Given the description of an element on the screen output the (x, y) to click on. 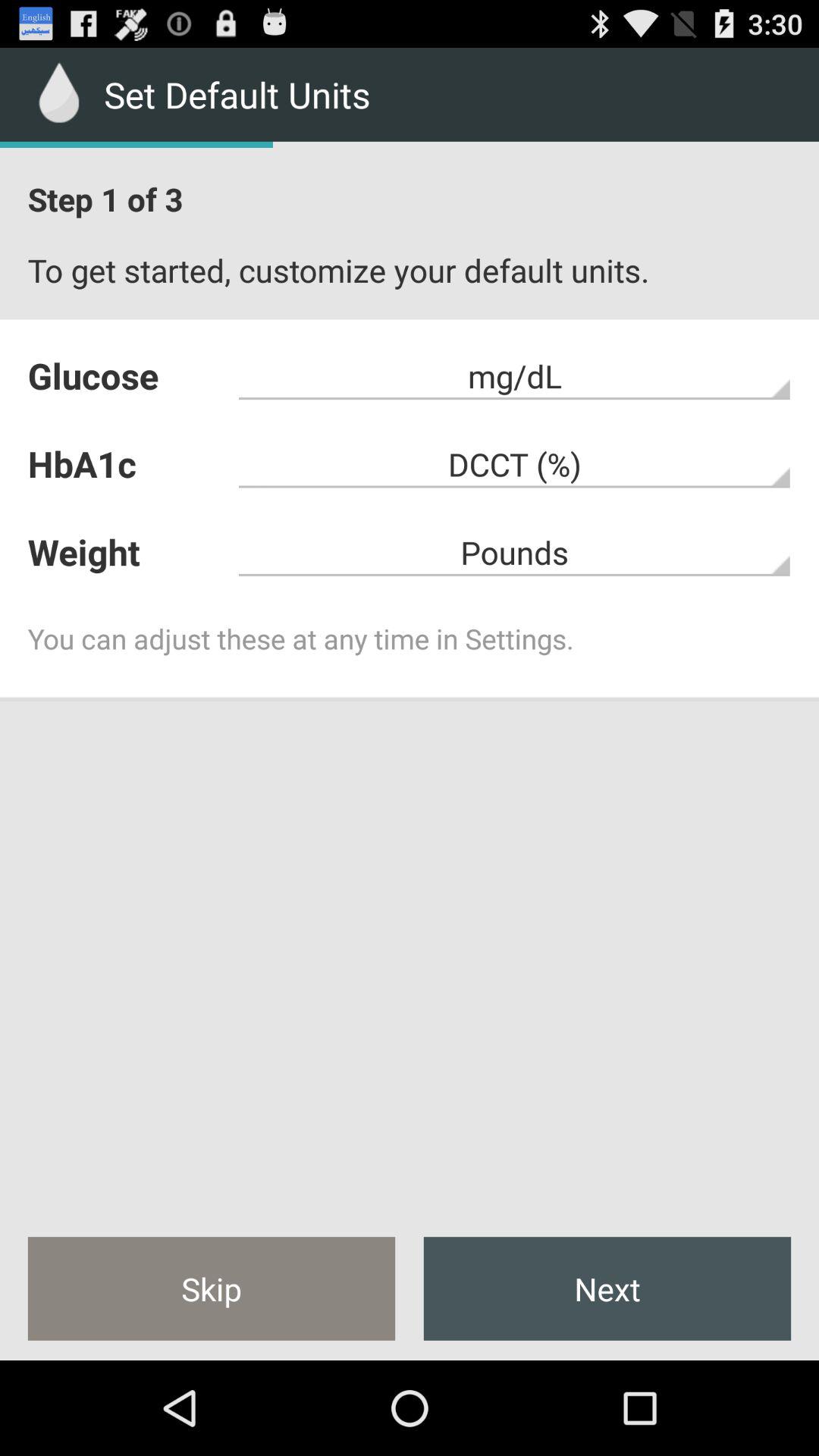
jump until the dcct (%) (514, 463)
